Given the description of an element on the screen output the (x, y) to click on. 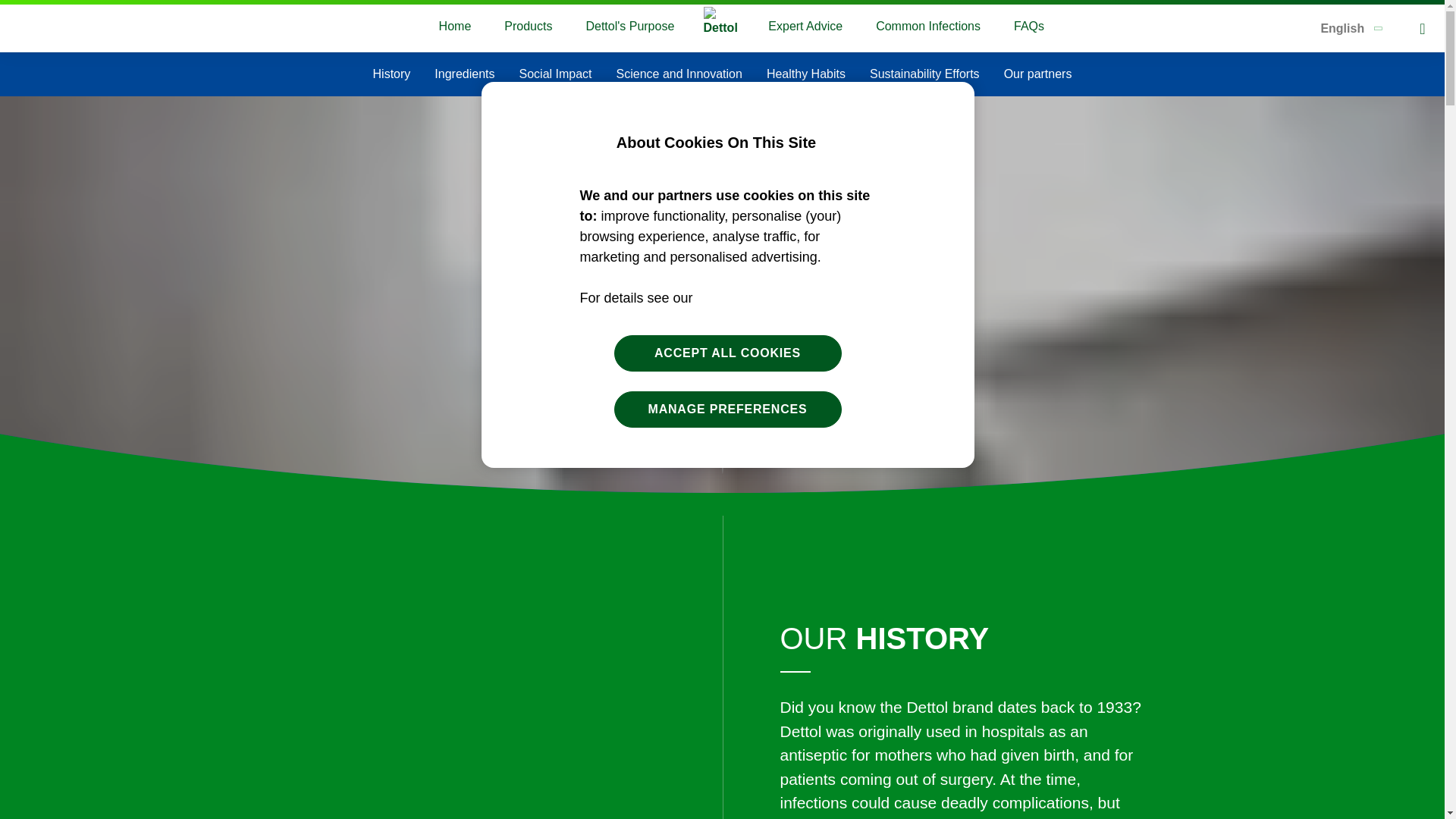
Ingredients (464, 74)
Products (527, 26)
Dettol's Purpose (629, 26)
Our partners (1037, 74)
Science and Innovation (678, 74)
Healthy Habits (806, 74)
Common Infections (927, 26)
Expert Advice (805, 26)
English (1351, 28)
Sustainability Efforts (924, 74)
Social Impact (555, 74)
